Given the description of an element on the screen output the (x, y) to click on. 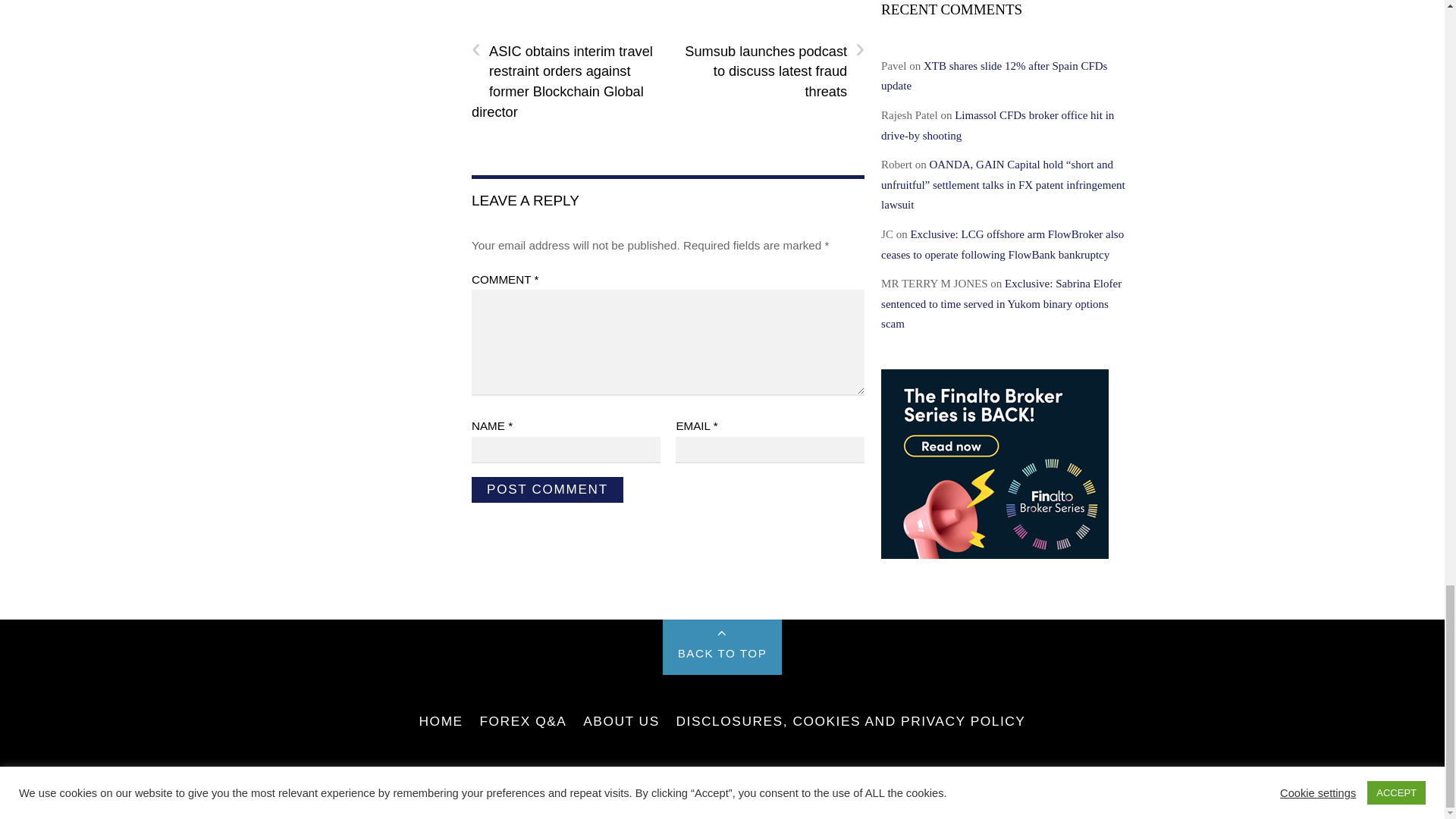
Post Comment (547, 489)
